Given the description of an element on the screen output the (x, y) to click on. 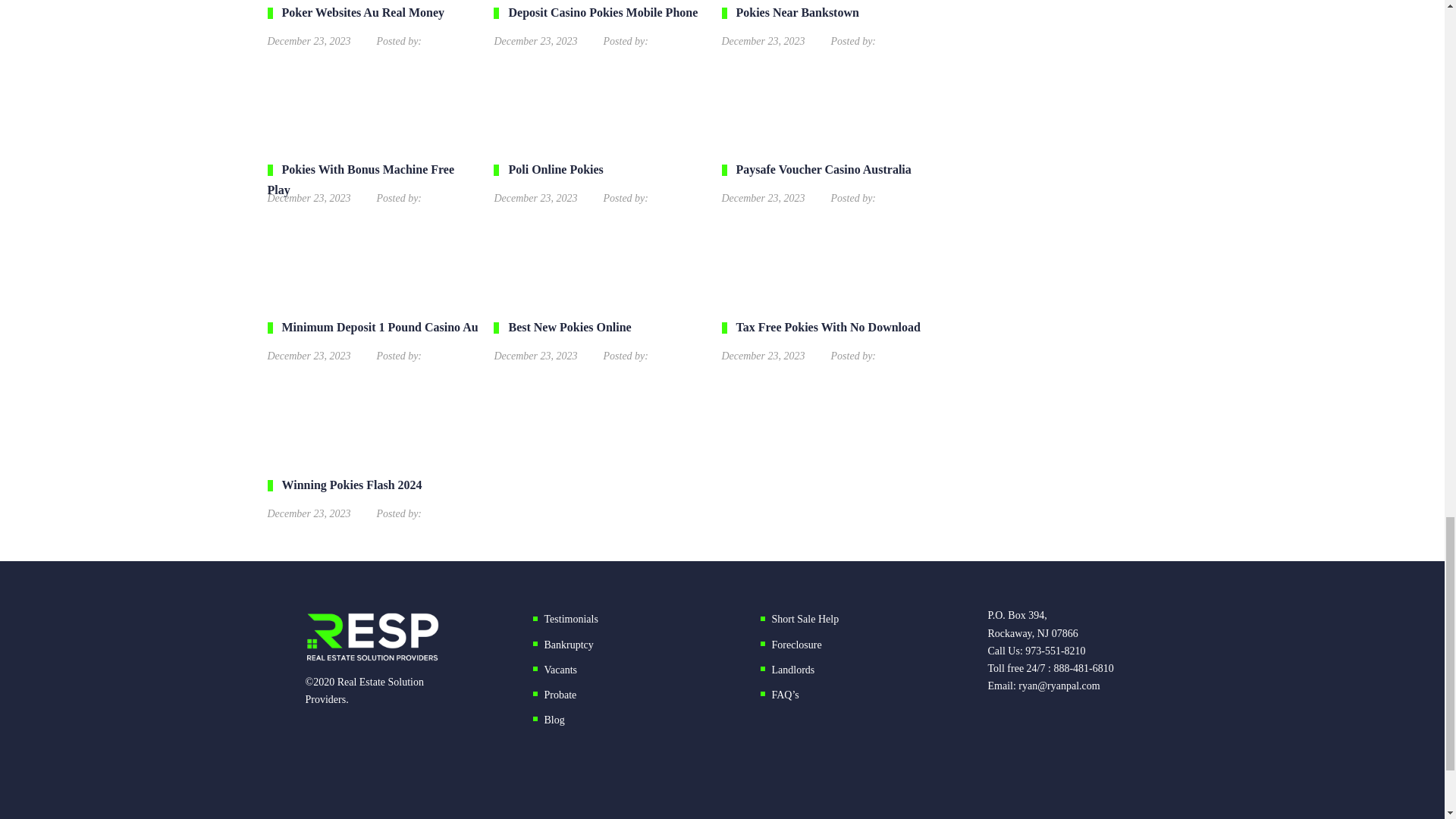
Tax Free Pokies With No Download (828, 339)
Paysafe Voucher Casino Australia (828, 181)
Pokies Near Bankstown (828, 24)
Poli Online Pokies (599, 181)
Best New Pokies Online (599, 339)
Minimum Deposit 1 Pound Casino Au (372, 339)
Poker Websites Au Real Money (372, 24)
Pokies With Bonus Machine Free Play (372, 181)
Winning Pokies Flash 2024 (372, 496)
Deposit Casino Pokies Mobile Phone (599, 24)
